Given the description of an element on the screen output the (x, y) to click on. 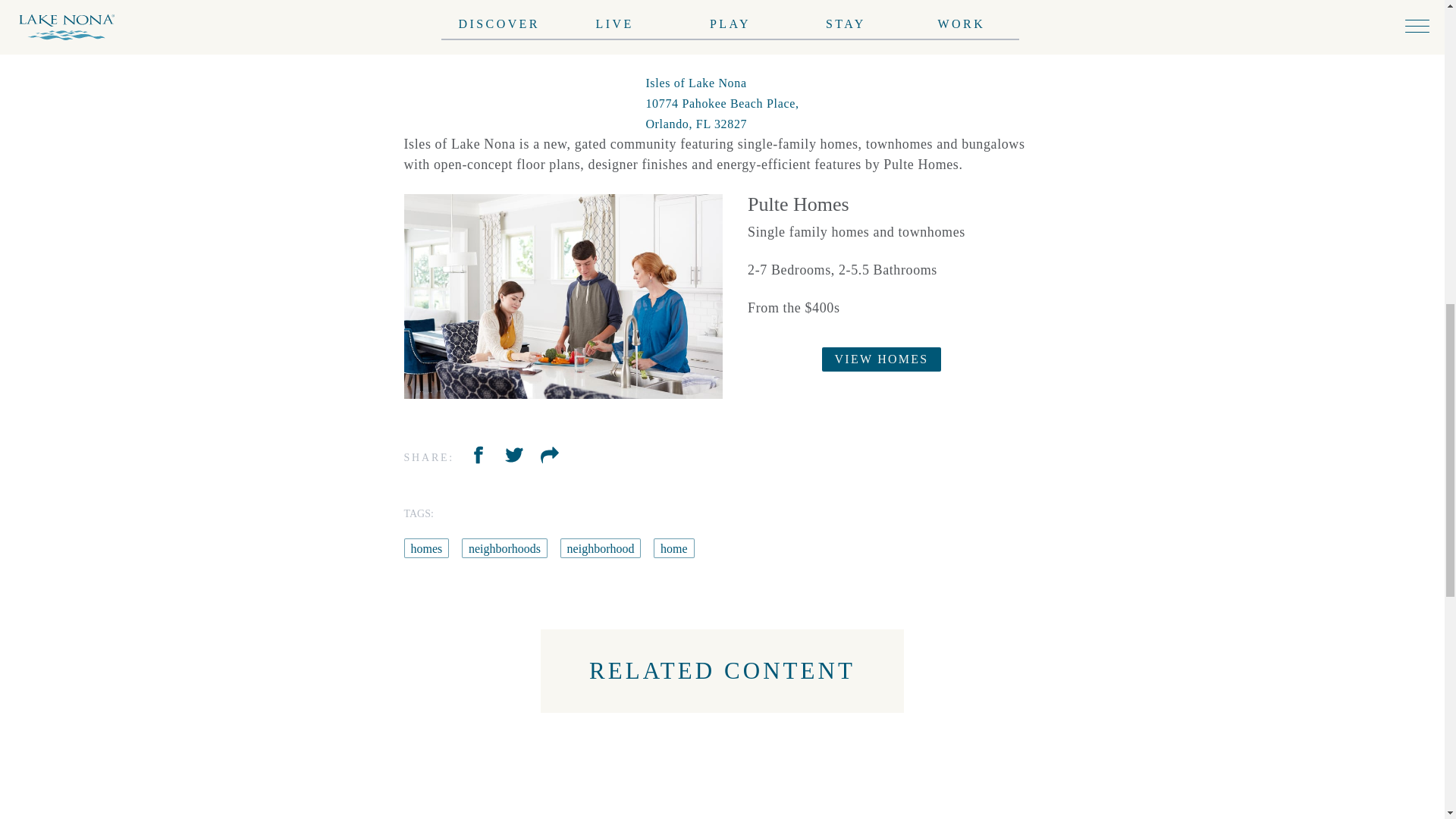
Isles of Lake Nona (721, 103)
home (517, 547)
neighborhood (443, 547)
homes (572, 547)
neighborhoods (651, 547)
Isles of Lake Nona 1 (562, 296)
VIEW HOMES (882, 359)
